Given the description of an element on the screen output the (x, y) to click on. 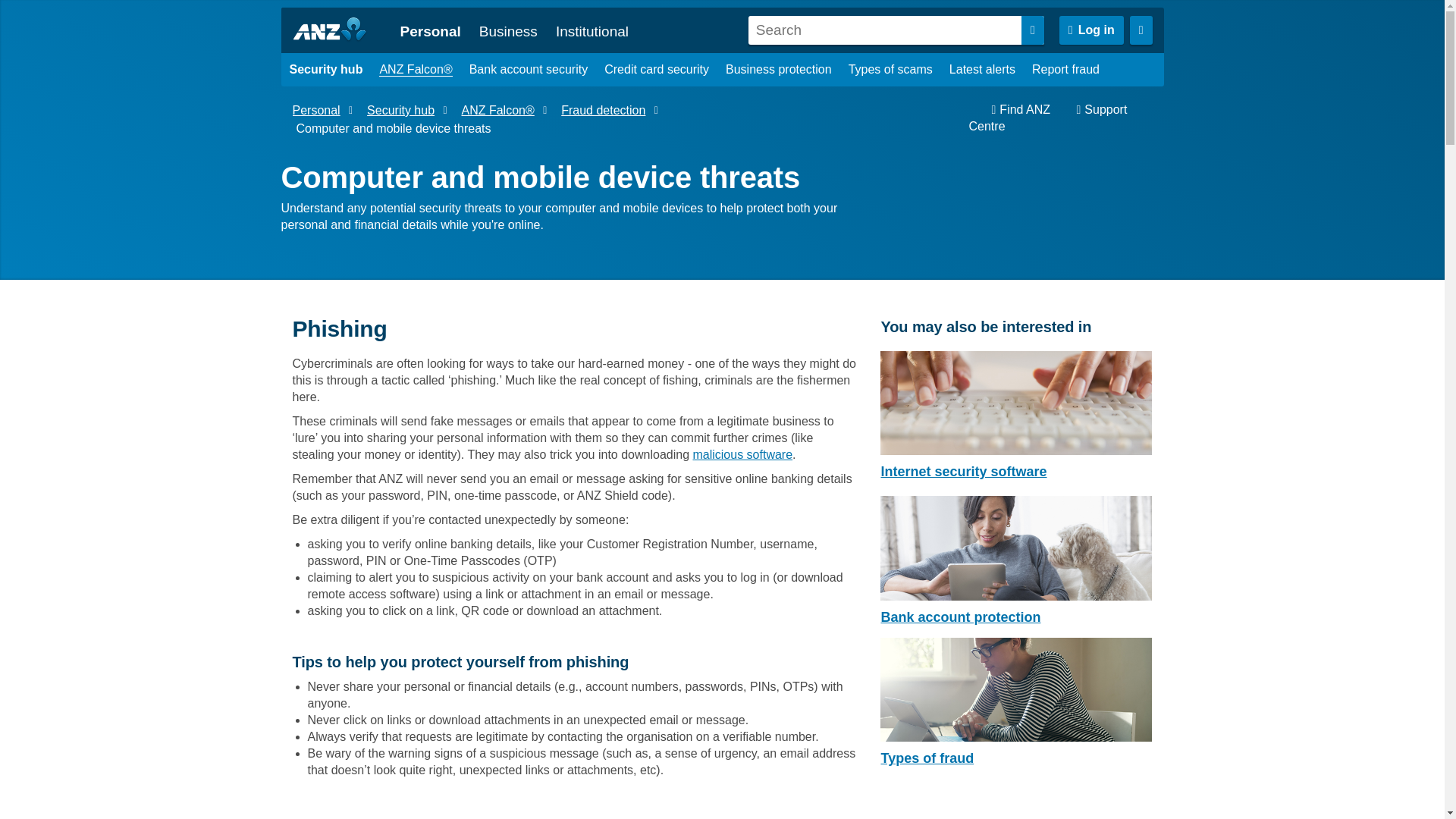
Personal (430, 31)
ANZ Logo (335, 30)
Institutional (592, 31)
Business (507, 31)
